Given the description of an element on the screen output the (x, y) to click on. 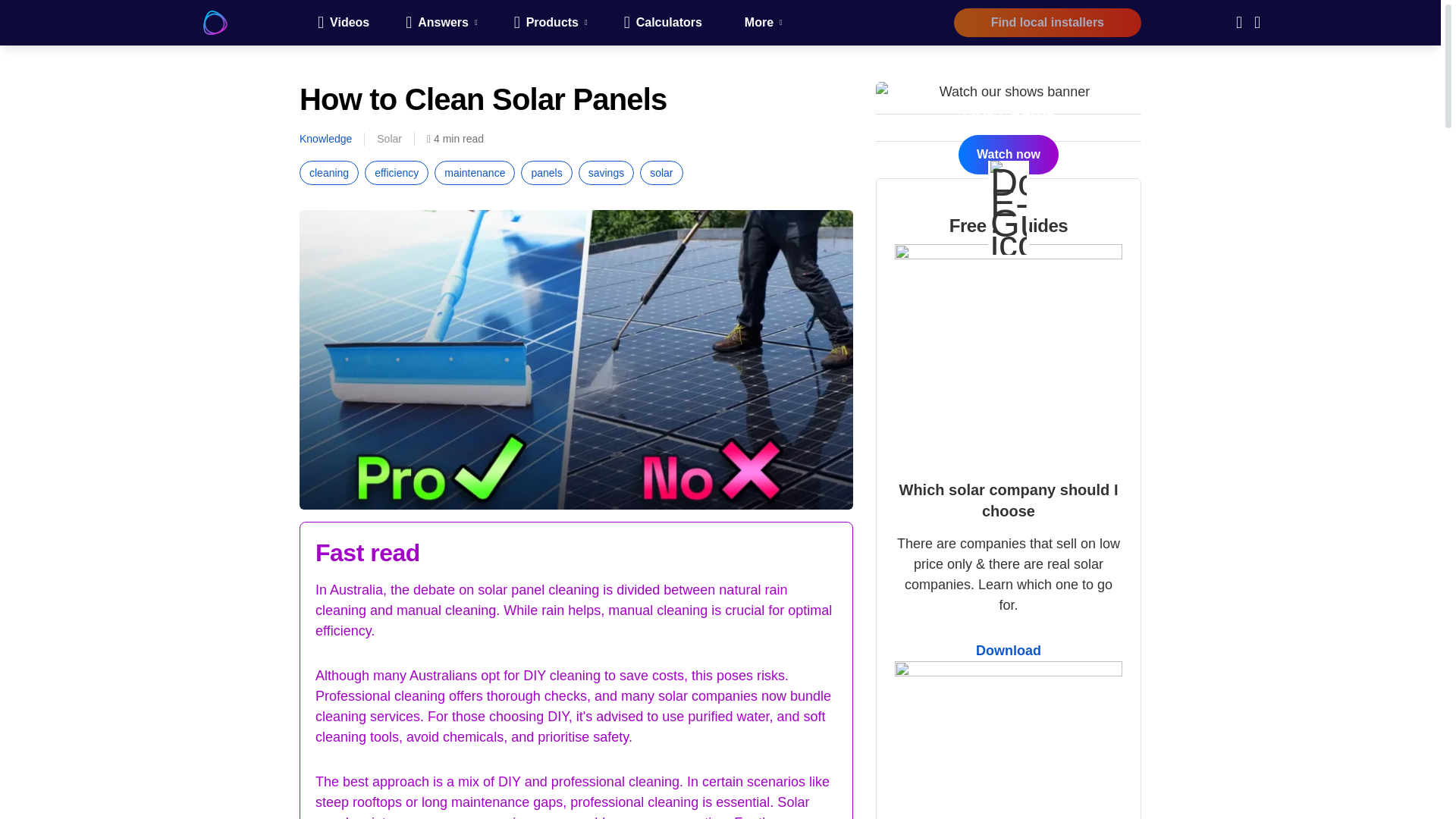
Find local installers (1047, 22)
Calculators (662, 22)
More (760, 22)
Products (550, 22)
Videos (343, 22)
Answers (441, 22)
